Given the description of an element on the screen output the (x, y) to click on. 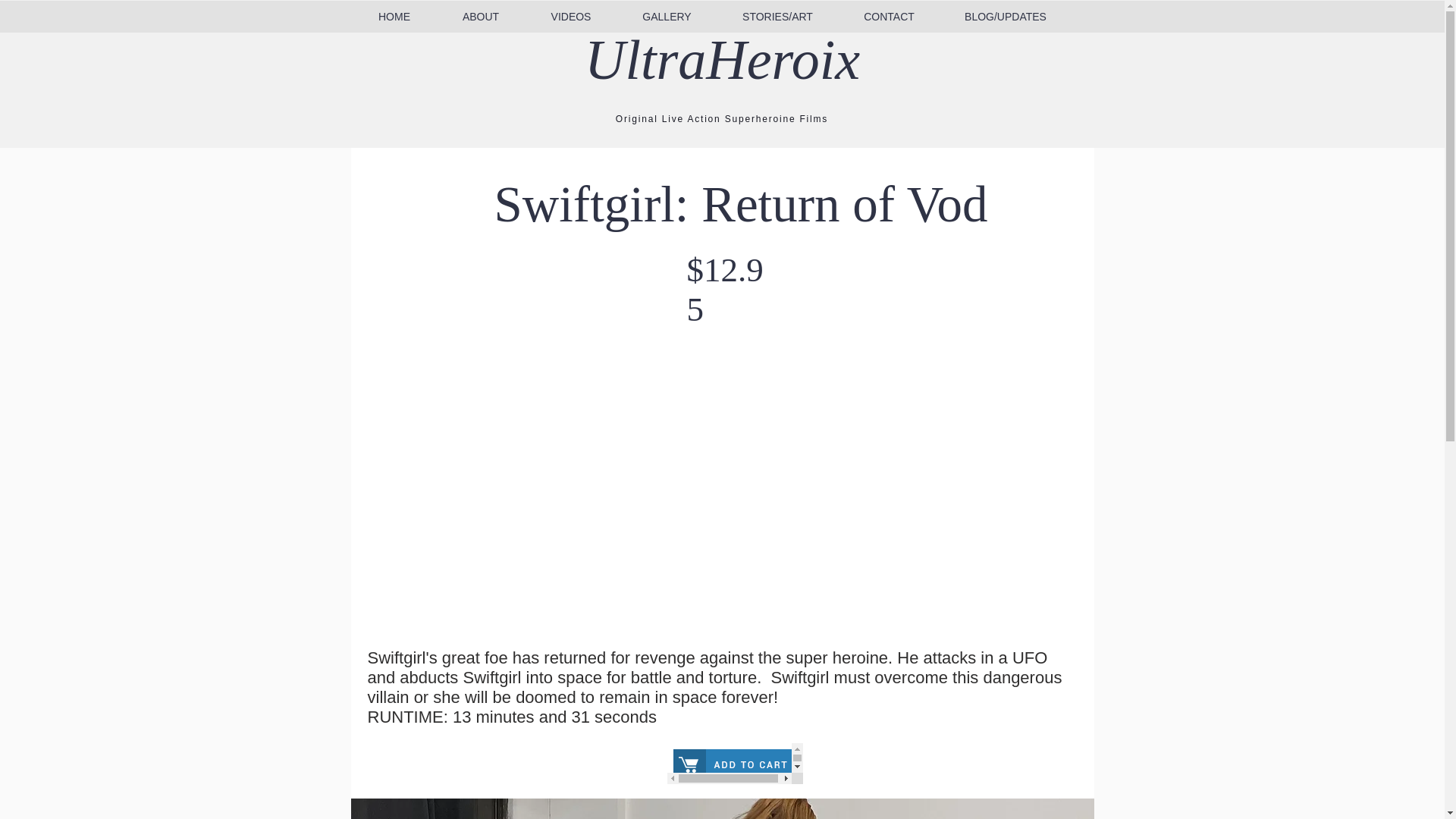
External YouTube (721, 505)
Site Search (1168, 21)
CONTACT (889, 17)
GALLERY (667, 17)
Embedded Content (734, 762)
HOME (393, 17)
VIDEOS (569, 17)
ABOUT (480, 17)
UltraHeroix (722, 59)
Original Live Action Superheroine Films (721, 118)
